Given the description of an element on the screen output the (x, y) to click on. 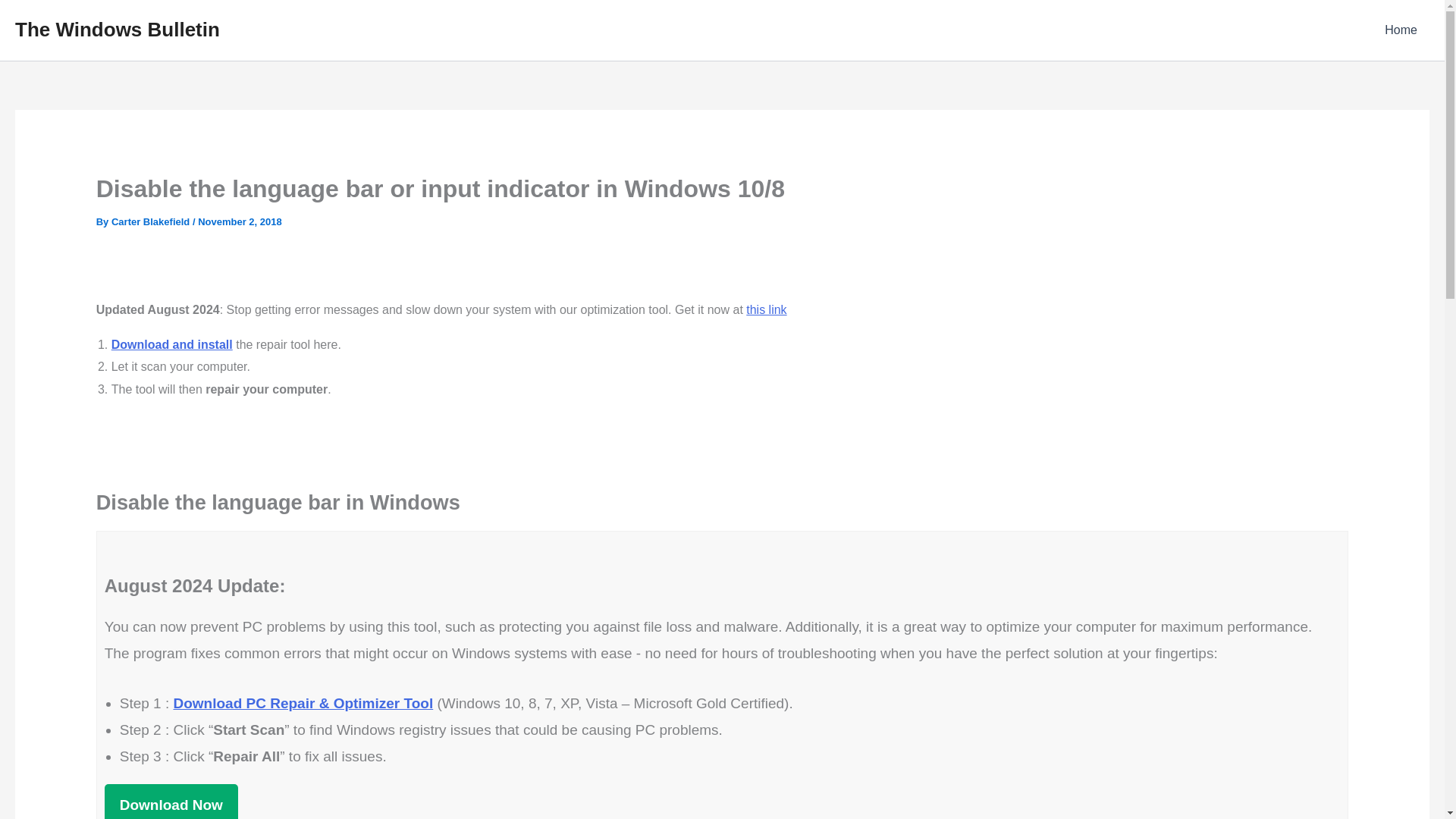
Download and install (172, 344)
Home (1401, 30)
The Windows Bulletin (116, 29)
Carter Blakefield (152, 221)
this link (765, 309)
Download Now (171, 801)
View all posts by Carter Blakefield (152, 221)
